Given the description of an element on the screen output the (x, y) to click on. 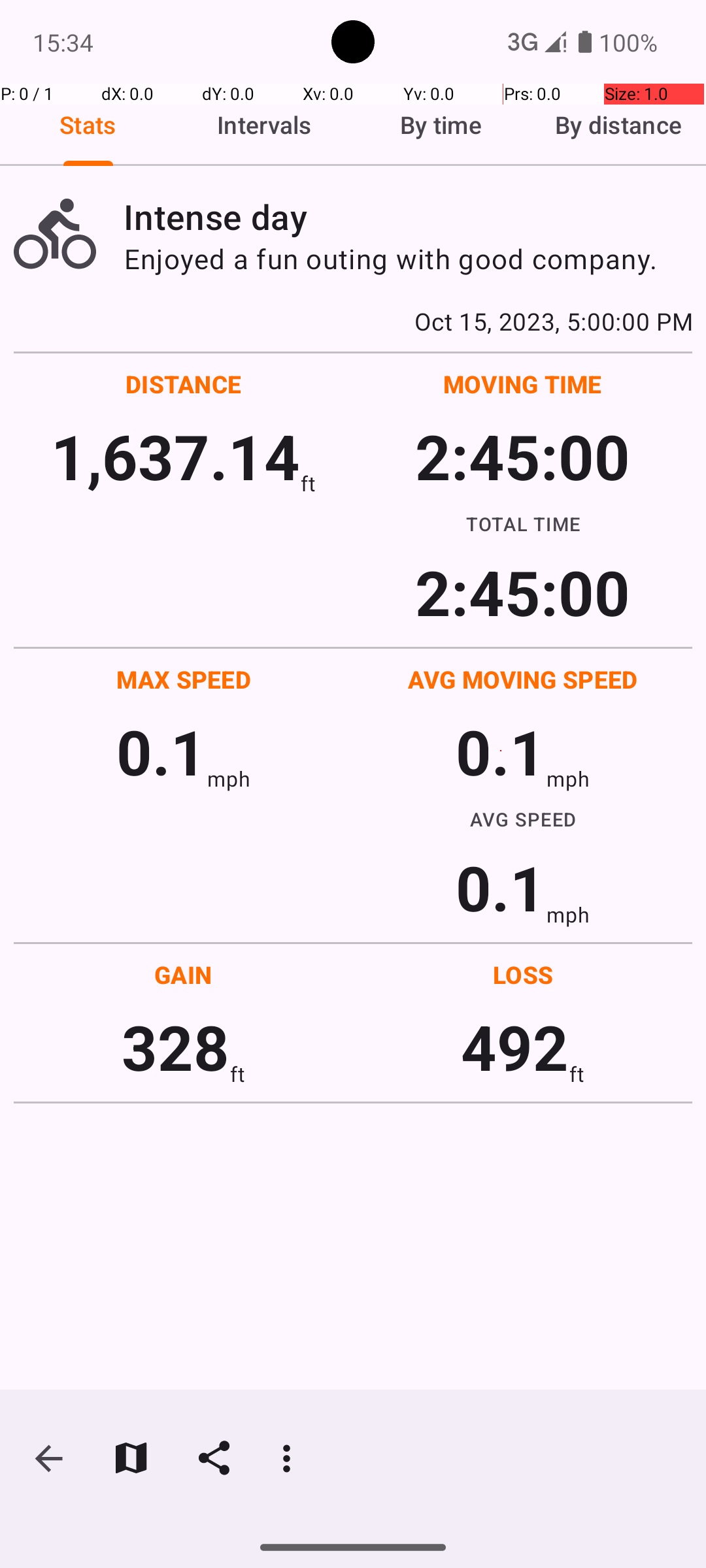
Stats Element type: android.widget.LinearLayout (88, 124)
Intervals Element type: android.widget.LinearLayout (264, 124)
By time Element type: android.widget.LinearLayout (441, 124)
By distance Element type: android.widget.LinearLayout (617, 124)
Show on map Element type: android.widget.Button (130, 1458)
Intense day Element type: android.widget.TextView (407, 216)
Enjoyed a fun outing with good company. Element type: android.widget.TextView (407, 258)
Oct 15, 2023, 5:00:00 PM Element type: android.widget.TextView (352, 320)
DISTANCE Element type: android.widget.TextView (183, 383)
MOVING TIME Element type: android.widget.TextView (522, 383)
1,637.14 Element type: android.widget.TextView (175, 455)
ft Element type: android.widget.TextView (307, 483)
2:45:00 Element type: android.widget.TextView (522, 455)
TOTAL TIME Element type: android.widget.TextView (522, 523)
MAX SPEED Element type: android.widget.TextView (183, 678)
AVG MOVING SPEED Element type: android.widget.TextView (522, 678)
0.1 Element type: android.widget.TextView (161, 750)
mph Element type: android.widget.TextView (228, 778)
AVG SPEED Element type: android.widget.TextView (522, 818)
GAIN Element type: android.widget.TextView (183, 974)
LOSS Element type: android.widget.TextView (522, 974)
328 Element type: android.widget.TextView (175, 1045)
492 Element type: android.widget.TextView (514, 1045)
